Given the description of an element on the screen output the (x, y) to click on. 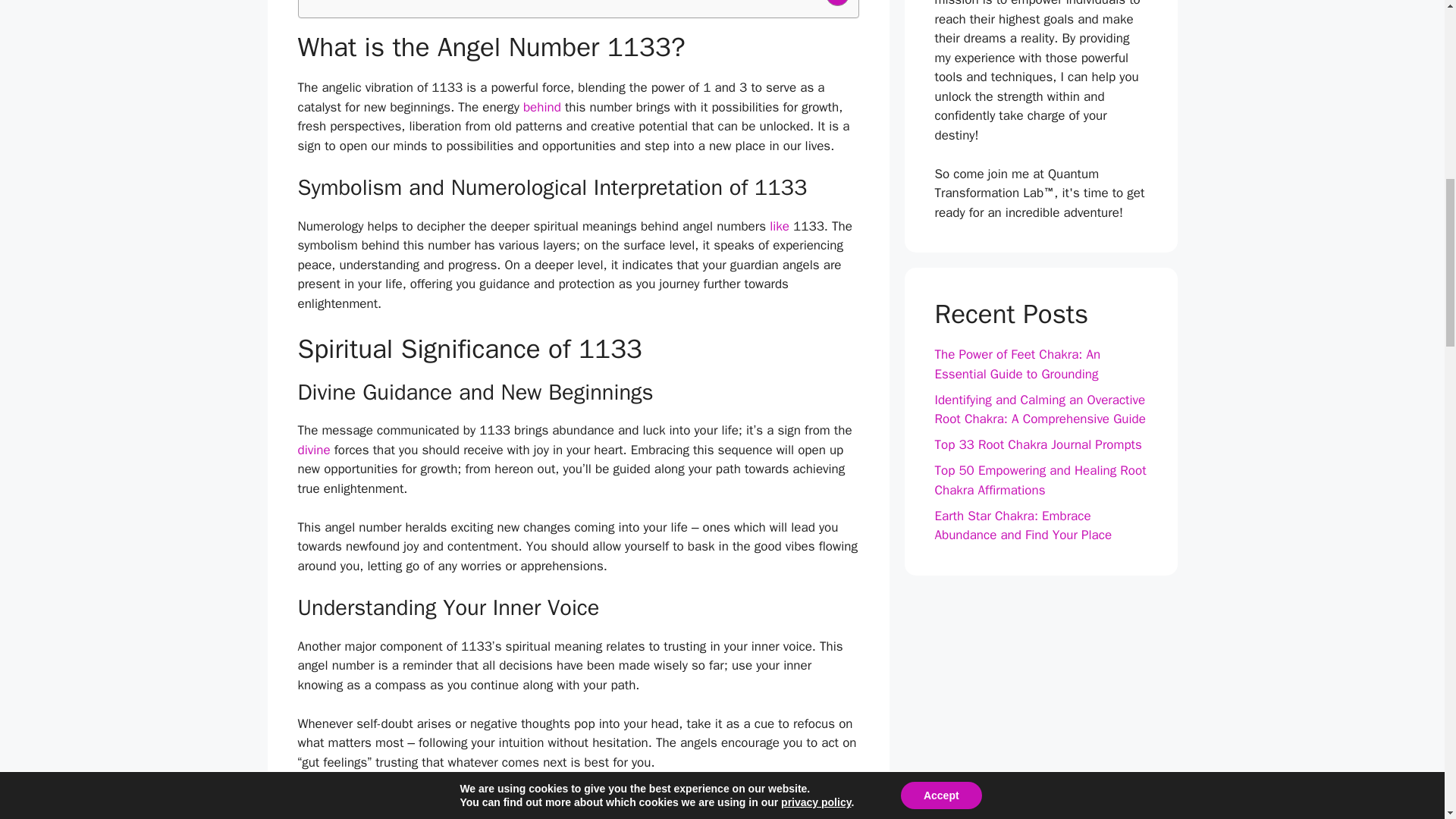
like (779, 226)
behind (541, 107)
divine (313, 449)
